Given the description of an element on the screen output the (x, y) to click on. 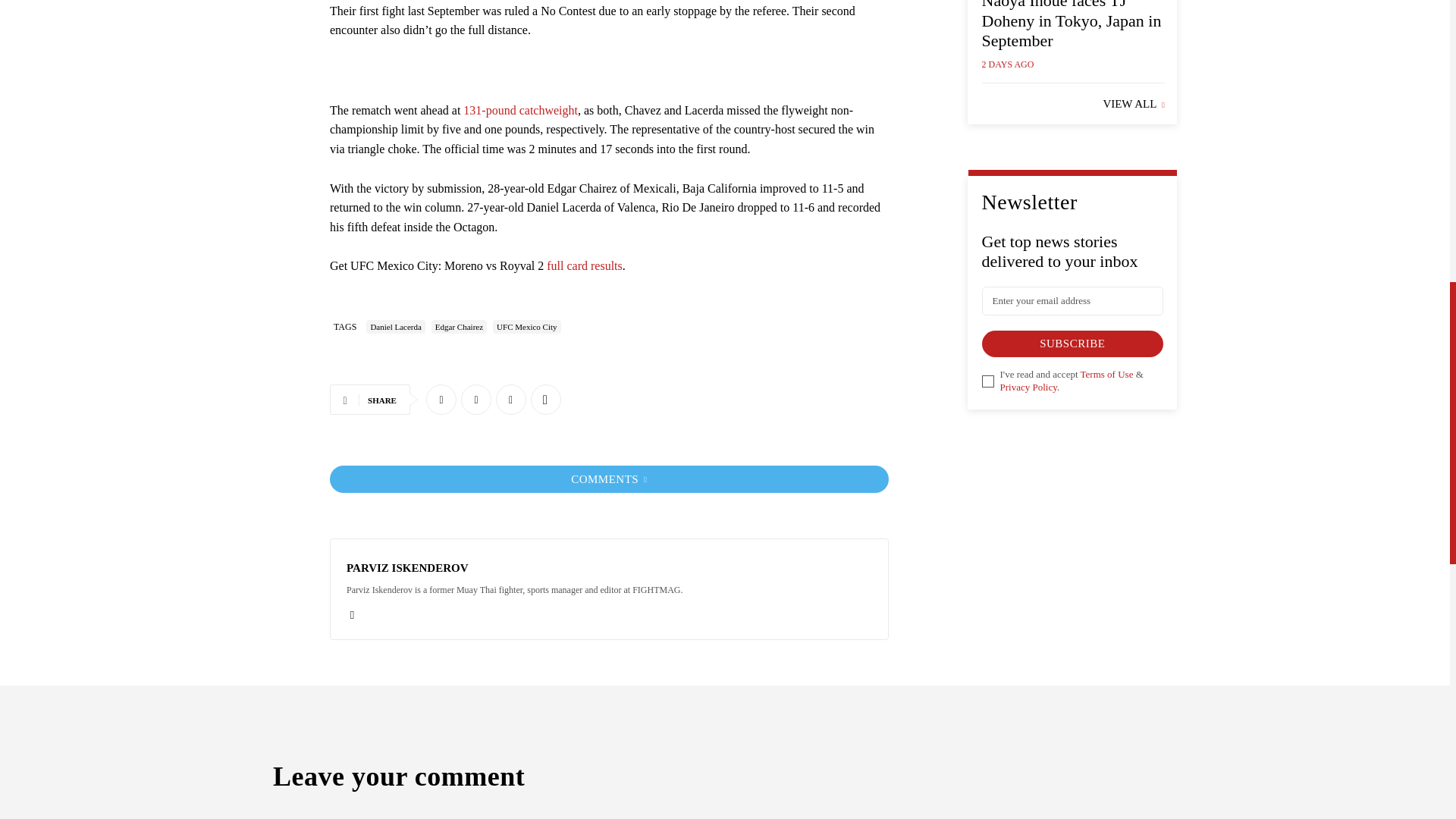
Email (352, 612)
Comments (609, 479)
Facebook (441, 399)
Naoya Inoue faces TJ Doheny in Tokyo, Japan in September (1070, 24)
Copy URL (545, 399)
View all (1133, 103)
Twitter (476, 399)
ReddIt (510, 399)
